Given the description of an element on the screen output the (x, y) to click on. 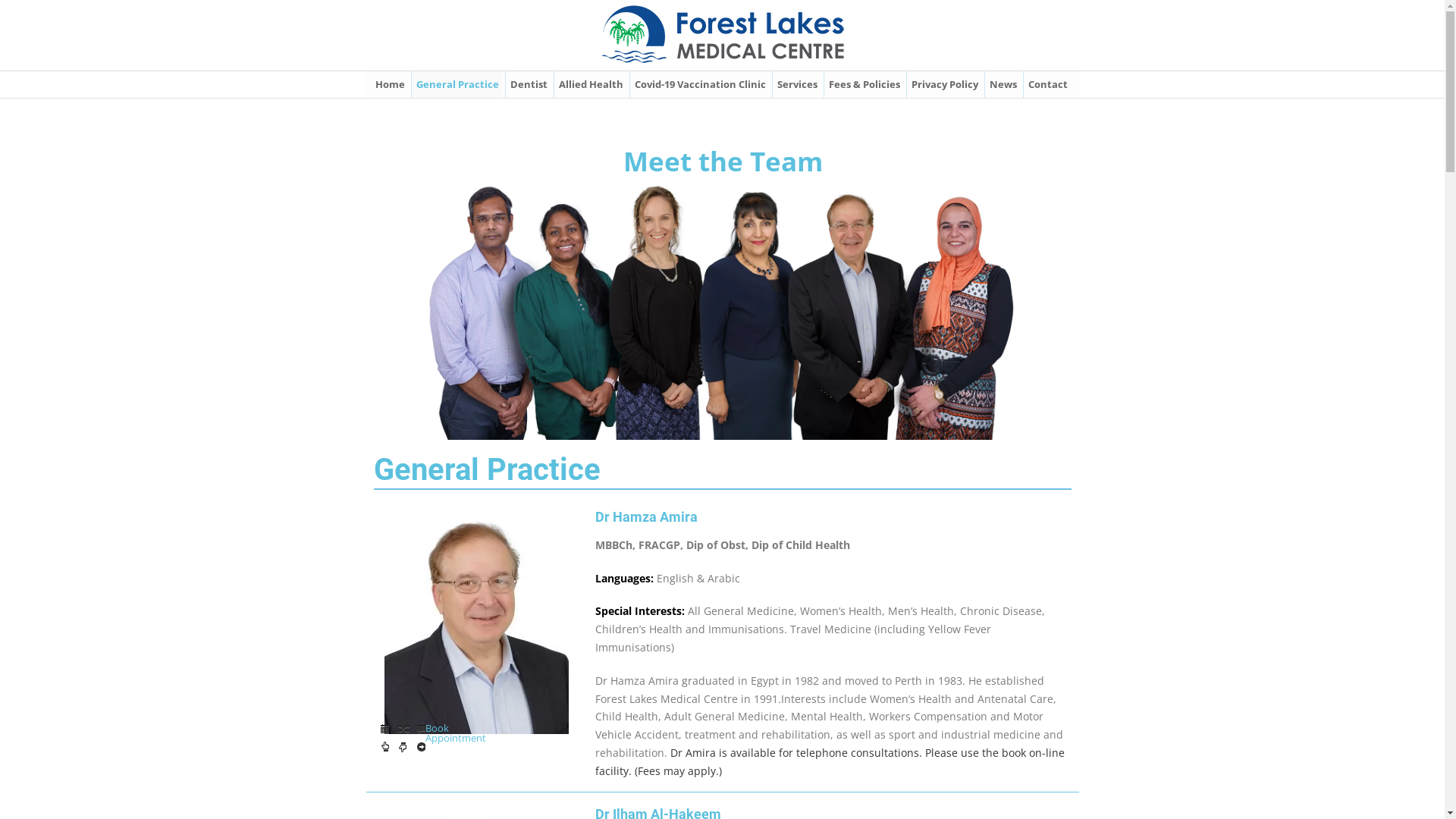
General Practice Element type: text (456, 84)
Covid-19 Vaccination Clinic Element type: text (699, 84)
Services Element type: text (796, 84)
Contact Element type: text (1046, 84)
Privacy Policy Element type: text (943, 84)
News Element type: text (1002, 84)
Fees & Policies Element type: text (863, 84)
Dentist Element type: text (527, 84)
Book Appointment Element type: text (401, 749)
Allied Health Element type: text (590, 84)
Home Element type: text (388, 84)
